Given the description of an element on the screen output the (x, y) to click on. 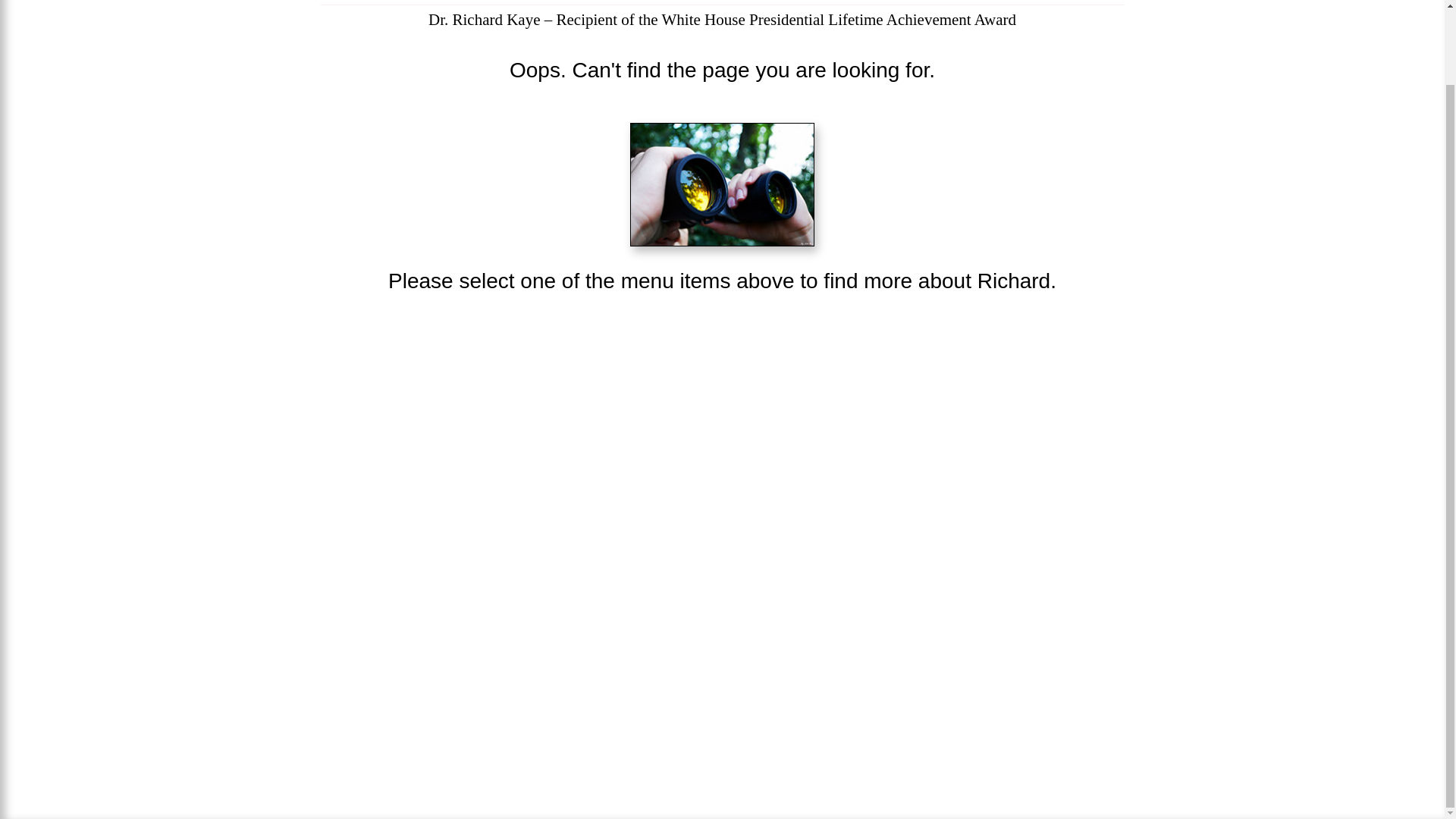
binoculars (721, 184)
